Given the description of an element on the screen output the (x, y) to click on. 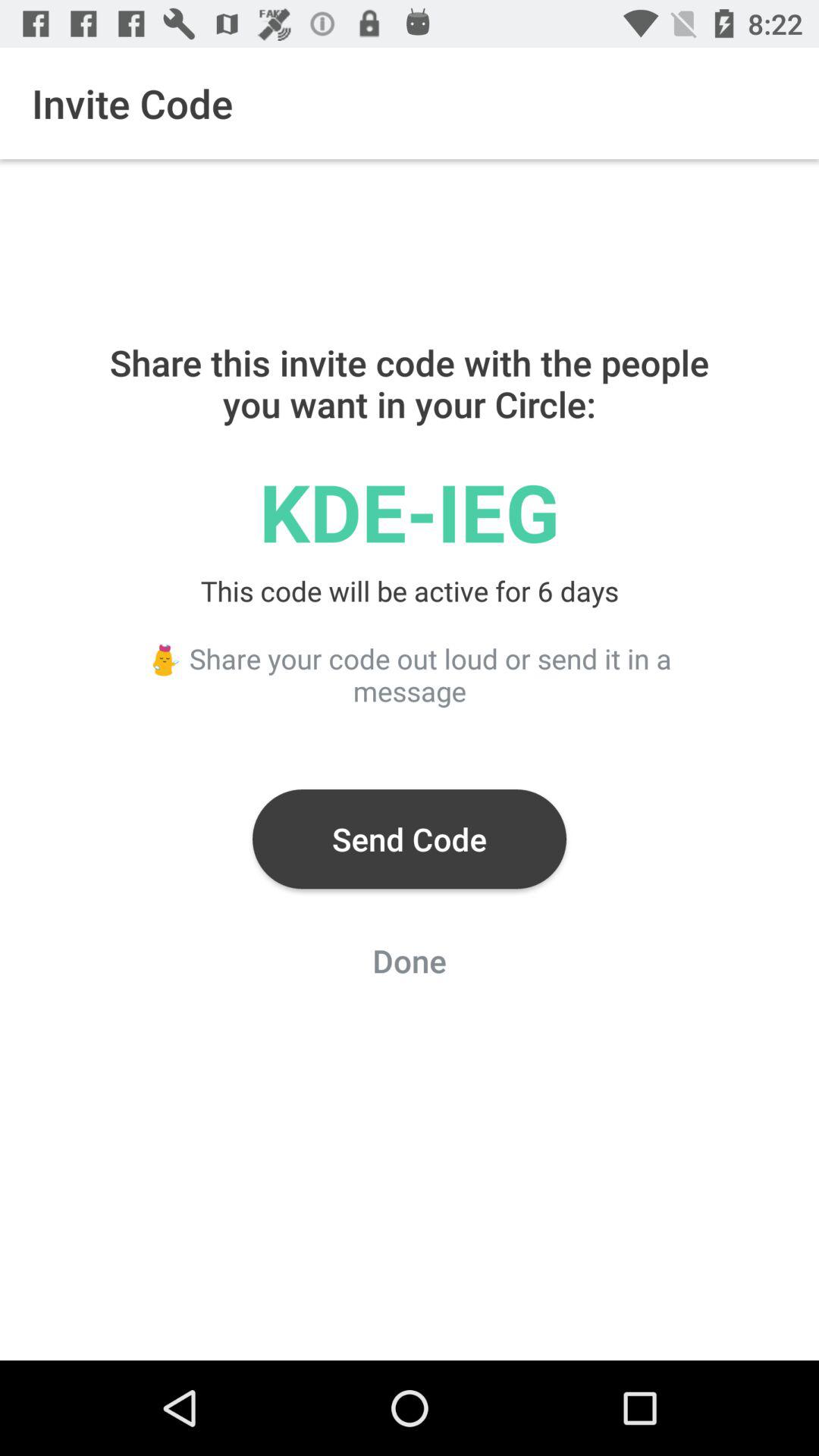
scroll until done (409, 965)
